Given the description of an element on the screen output the (x, y) to click on. 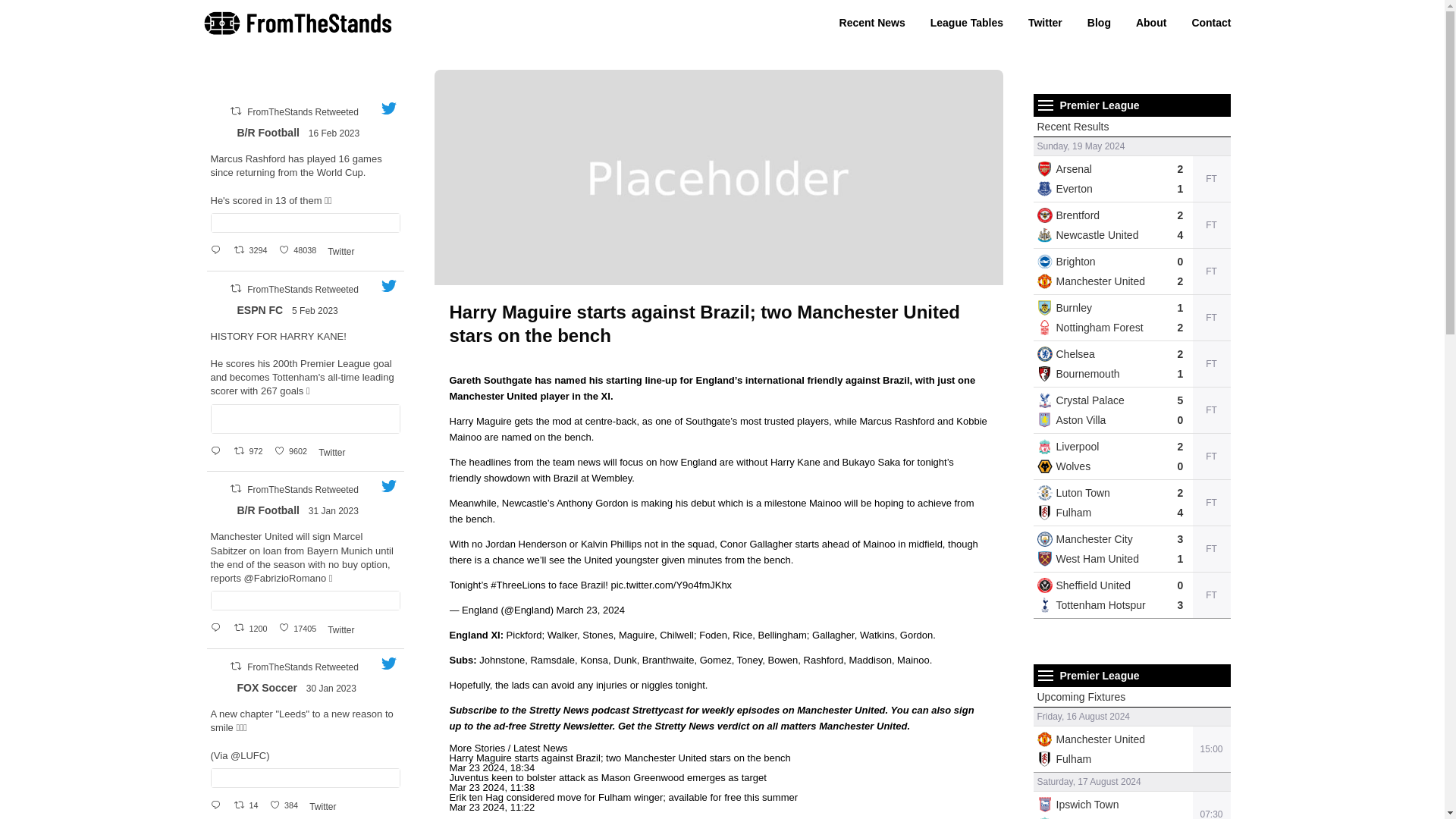
Recent News (871, 22)
Reply on Twitter 1626311819273936903 (218, 249)
Contact (1210, 22)
Twitter (1045, 22)
League Tables (966, 22)
16 Feb 2023 1626311819273936903 (335, 132)
Retweet on Twitter (235, 111)
; (220, 133)
FromTheStands (298, 31)
About (1150, 22)
Mar 23 2024, 18:34 (491, 767)
Stretty Newsletter (570, 726)
March 23, 2024 (590, 609)
